Given the description of an element on the screen output the (x, y) to click on. 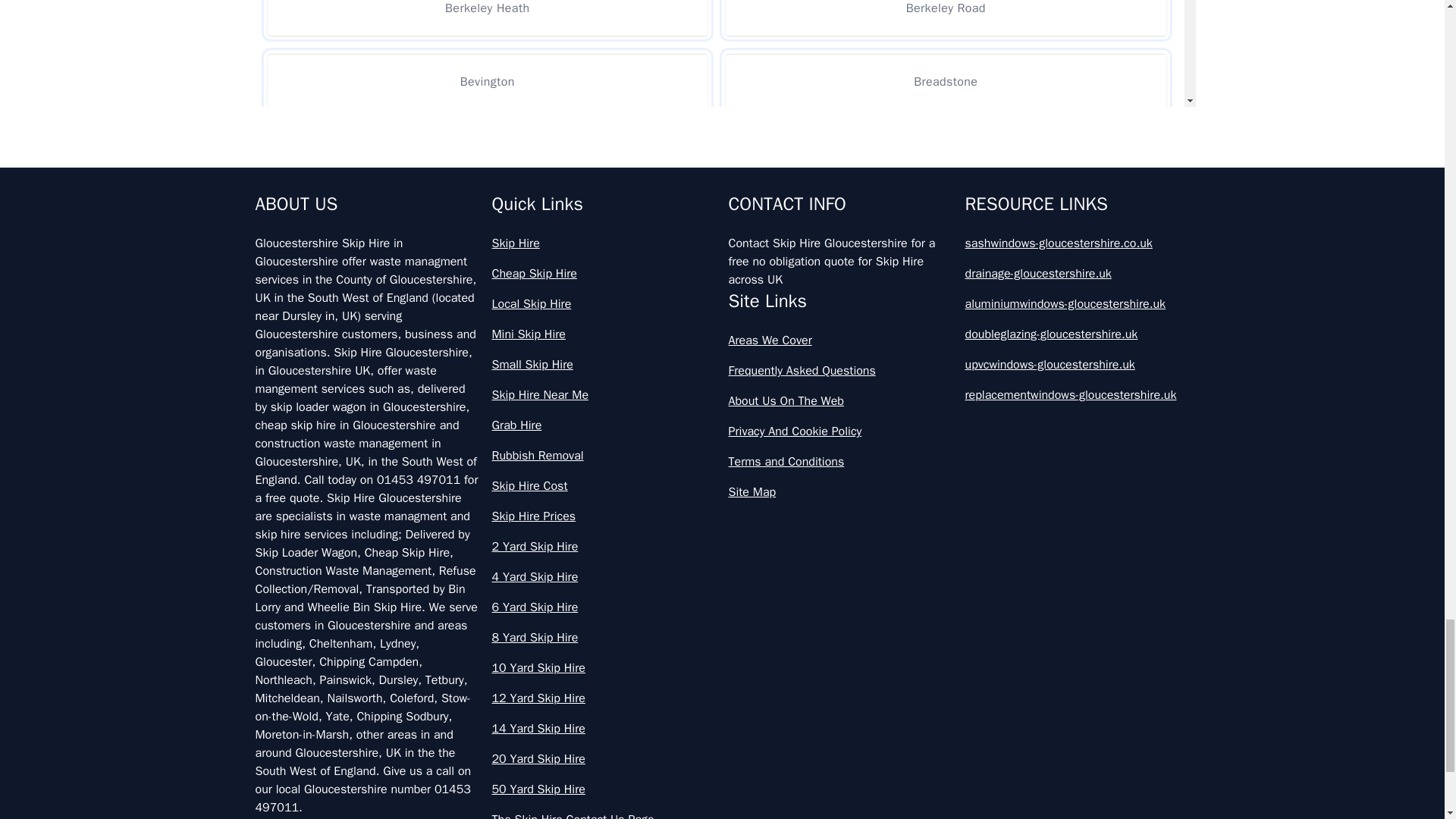
Heathfield (945, 228)
replacementwindows-gloucestershire.uk (1076, 394)
sashwindows-gloucestershire.co.uk (1076, 243)
upvcwindows-gloucestershire.uk (1076, 364)
aluminiumwindows-gloucestershire.uk (1076, 303)
doubleglazing-gloucestershire.uk (1076, 334)
drainage-gloucestershire.uk (1076, 273)
Halmore (945, 154)
Berkeley Heath (486, 18)
Berkeley Road (945, 18)
